Given the description of an element on the screen output the (x, y) to click on. 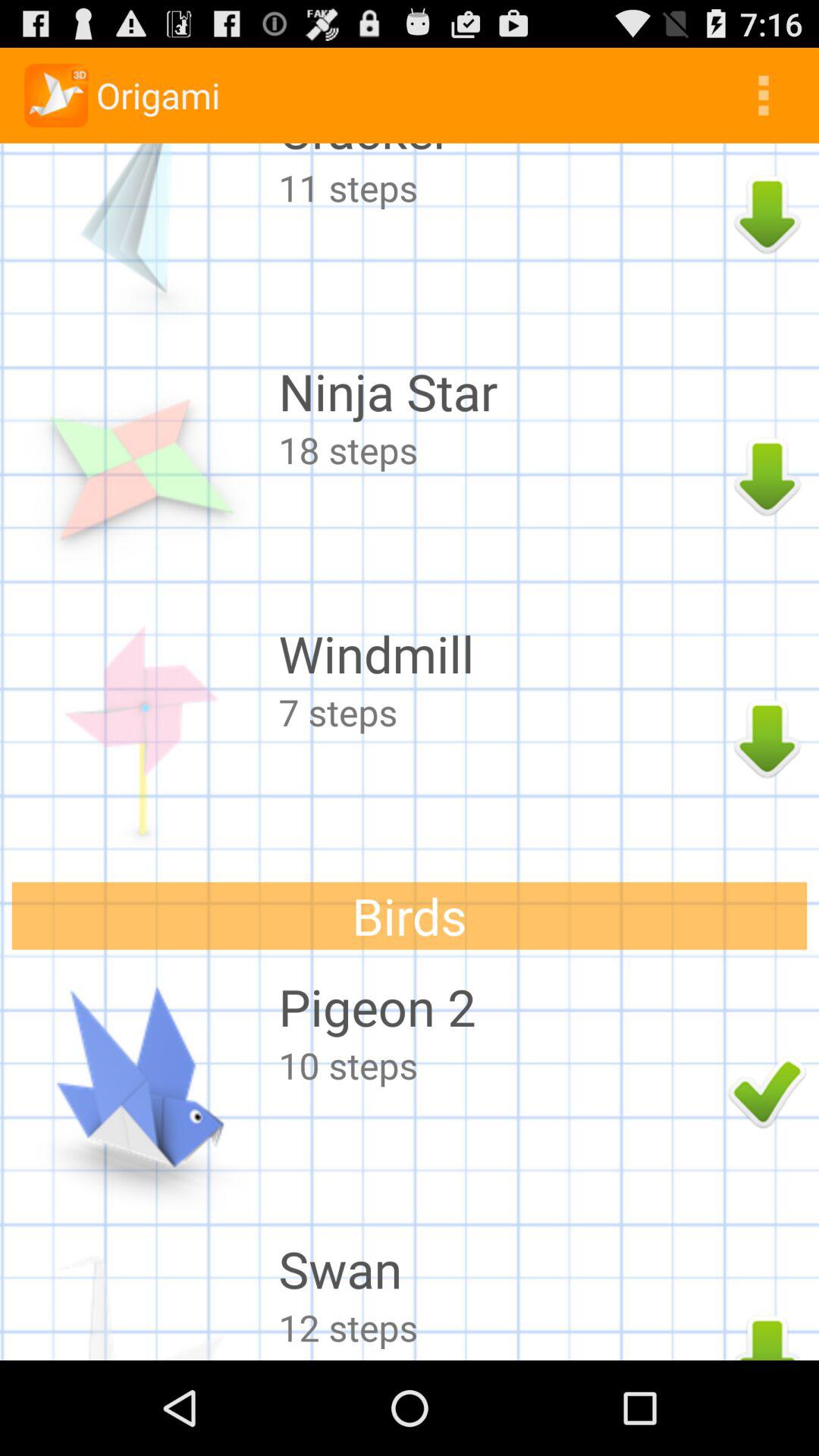
turn on icon above cracker app (763, 95)
